Given the description of an element on the screen output the (x, y) to click on. 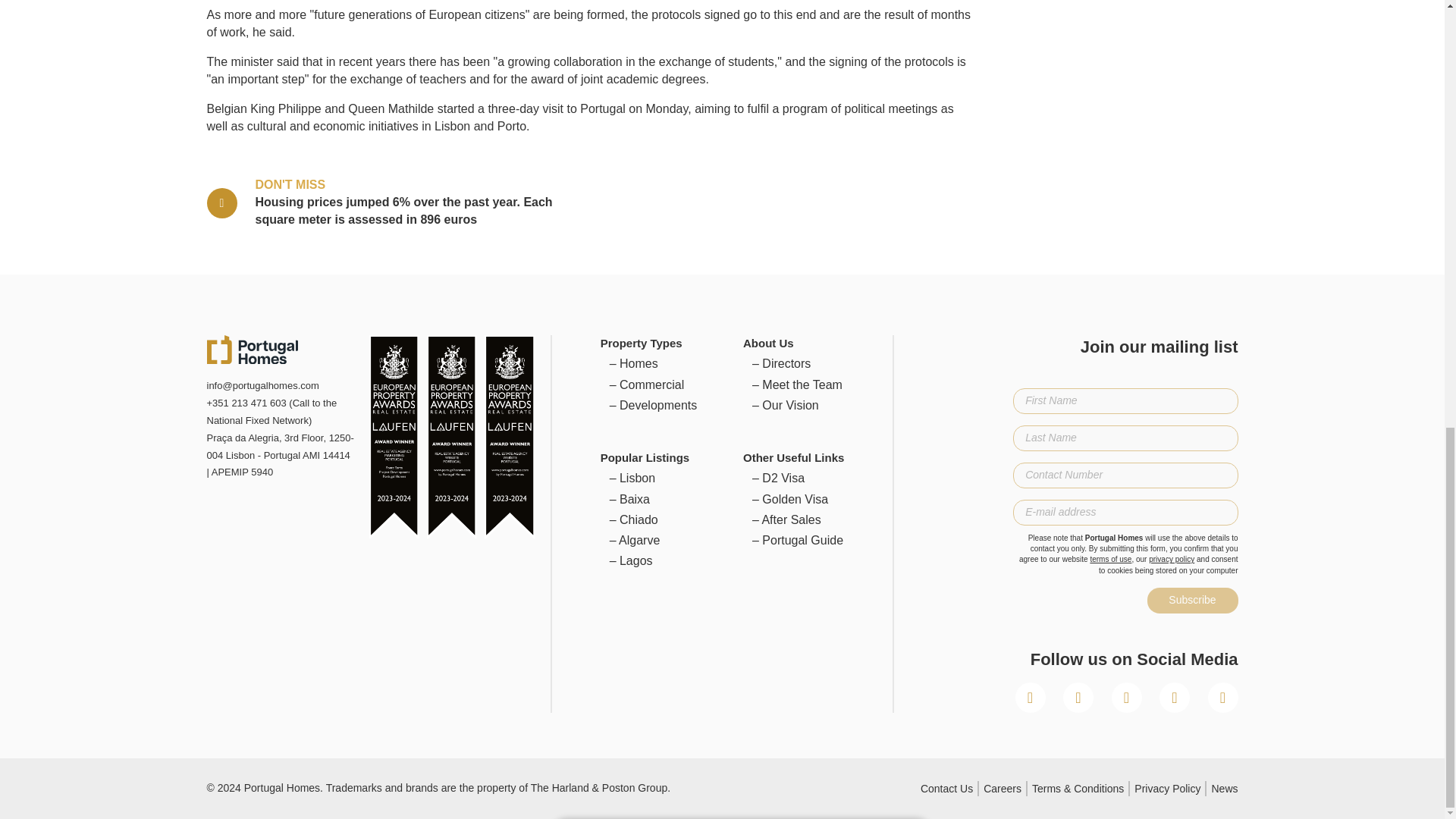
Submit now (740, 276)
Subscribe (1192, 600)
1 (571, 335)
